Given the description of an element on the screen output the (x, y) to click on. 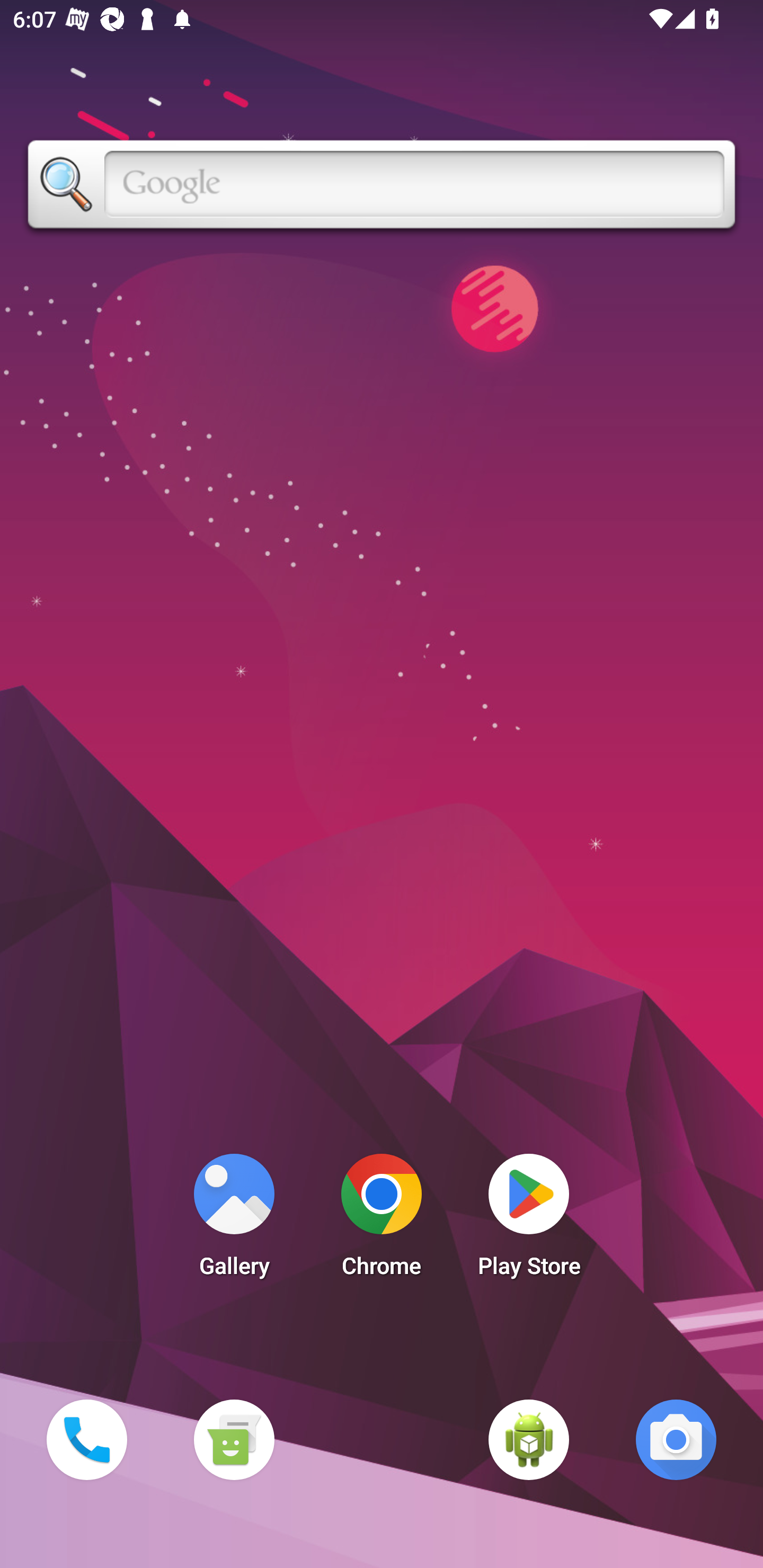
Gallery (233, 1220)
Chrome (381, 1220)
Play Store (528, 1220)
Phone (86, 1439)
Messaging (233, 1439)
WebView Browser Tester (528, 1439)
Camera (676, 1439)
